Given the description of an element on the screen output the (x, y) to click on. 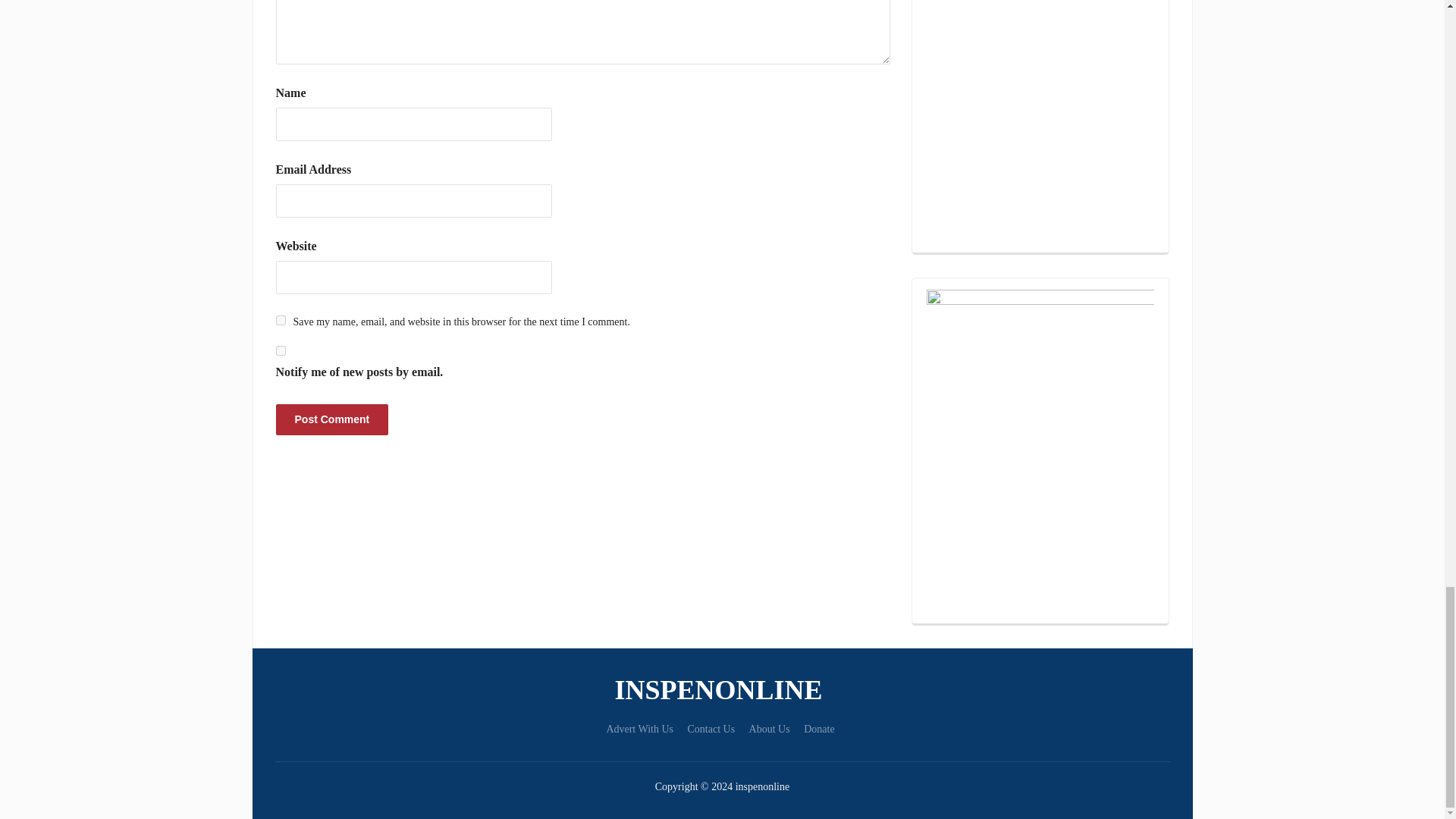
insurance and pension news (721, 689)
Post Comment (332, 419)
Post Comment (332, 419)
yes (280, 320)
subscribe (280, 350)
